Given the description of an element on the screen output the (x, y) to click on. 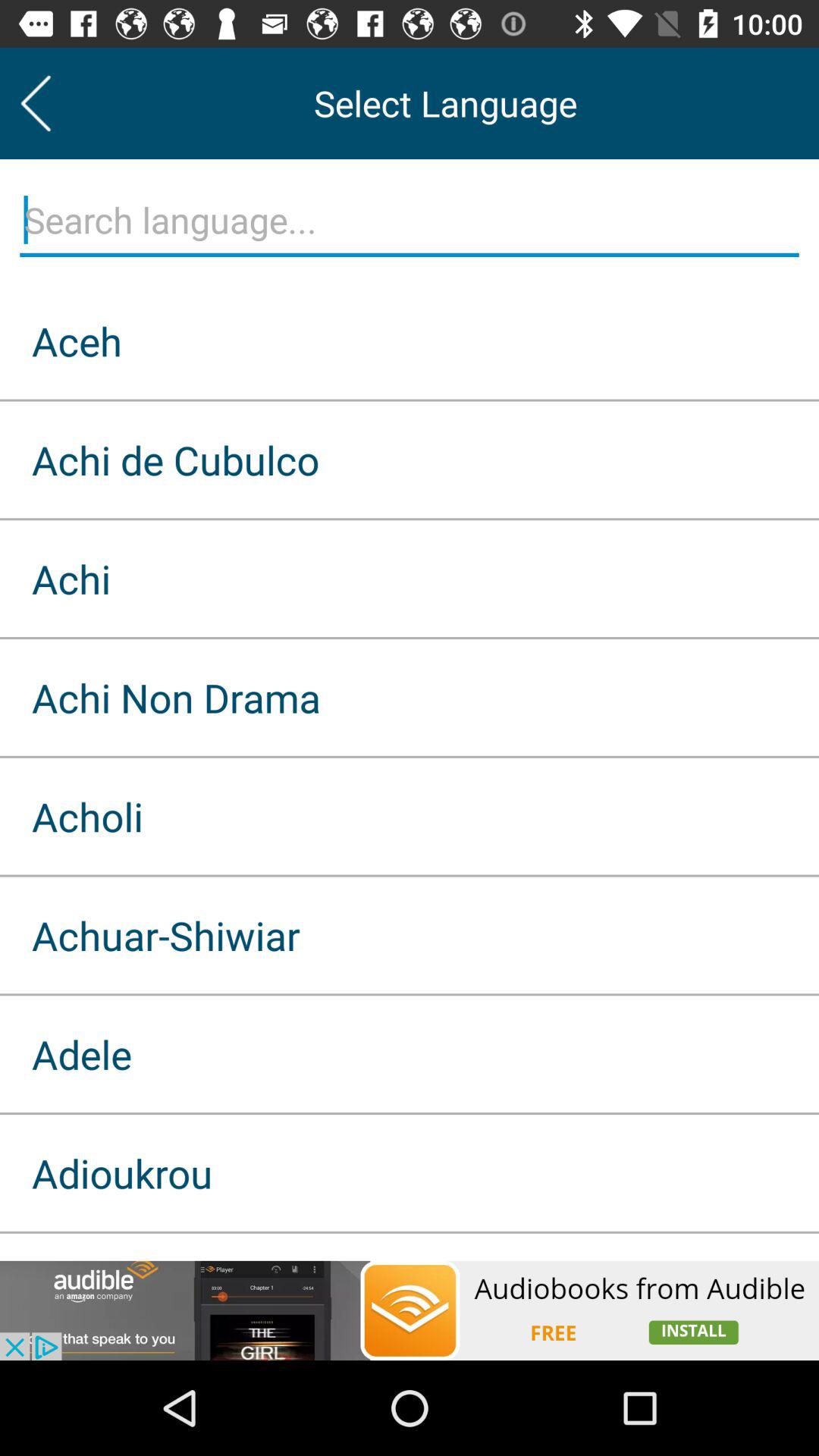
go back (35, 103)
